Given the description of an element on the screen output the (x, y) to click on. 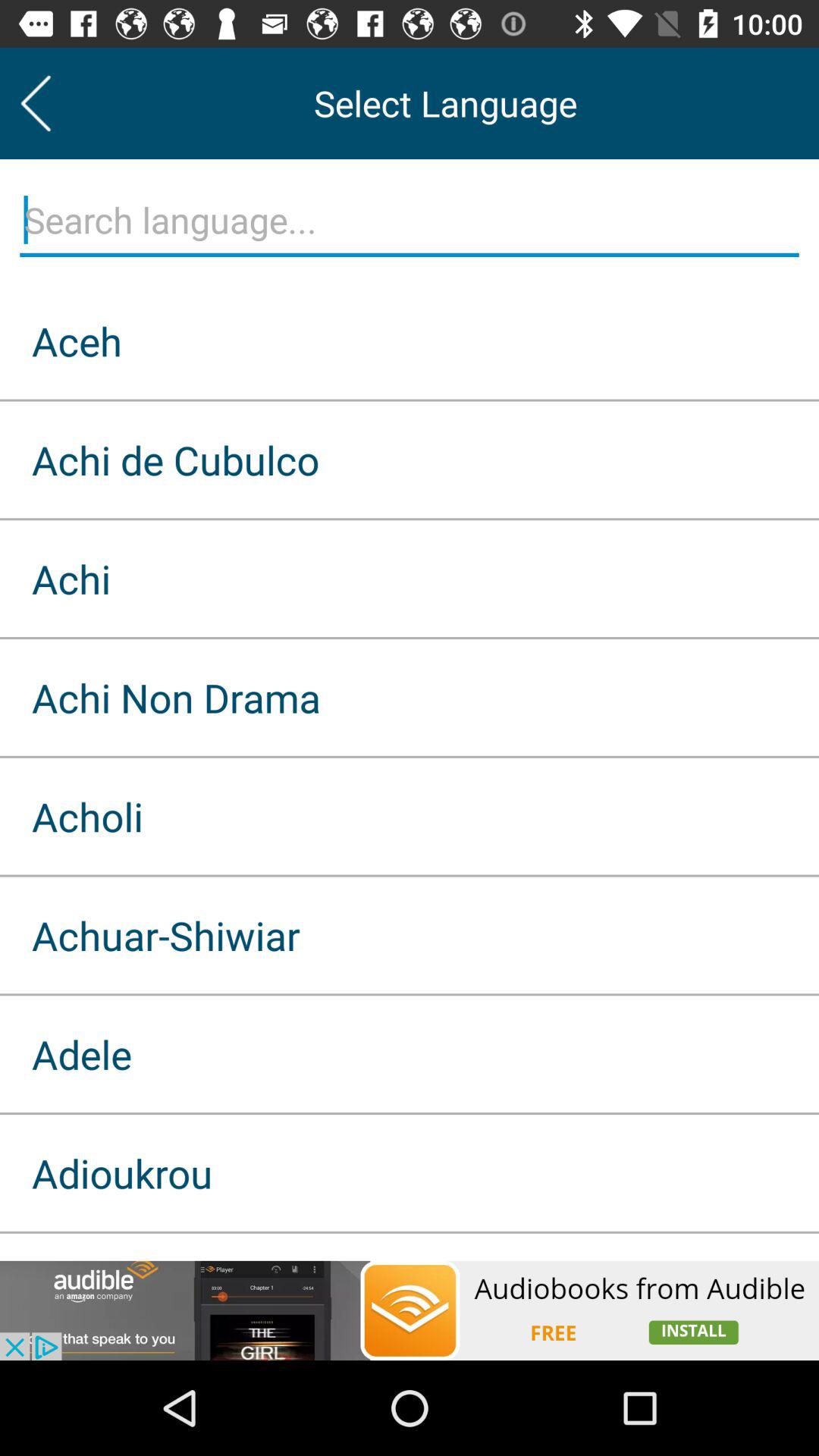
go back (35, 103)
